Given the description of an element on the screen output the (x, y) to click on. 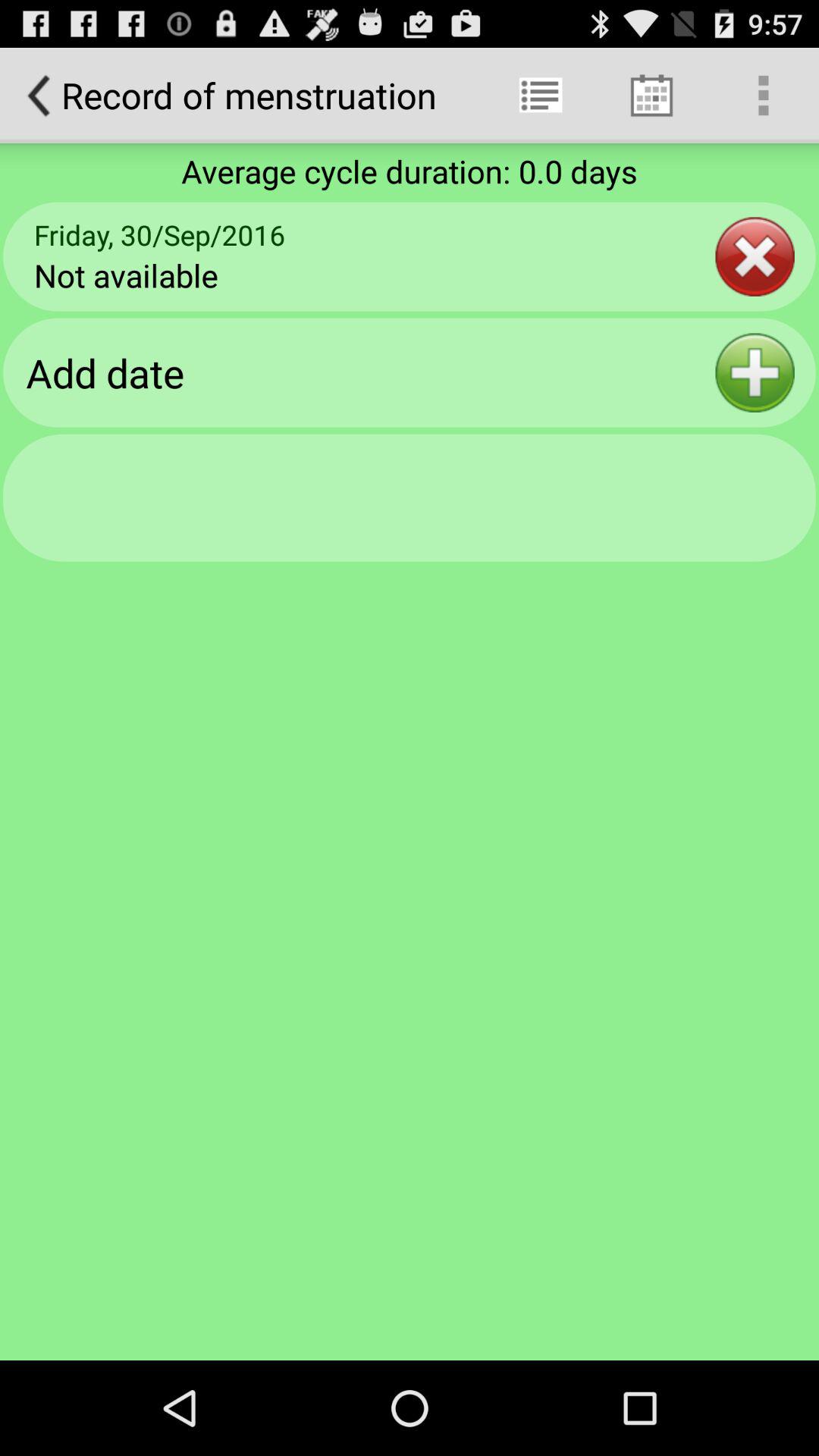
turn on icon to the right of add date item (754, 372)
